Given the description of an element on the screen output the (x, y) to click on. 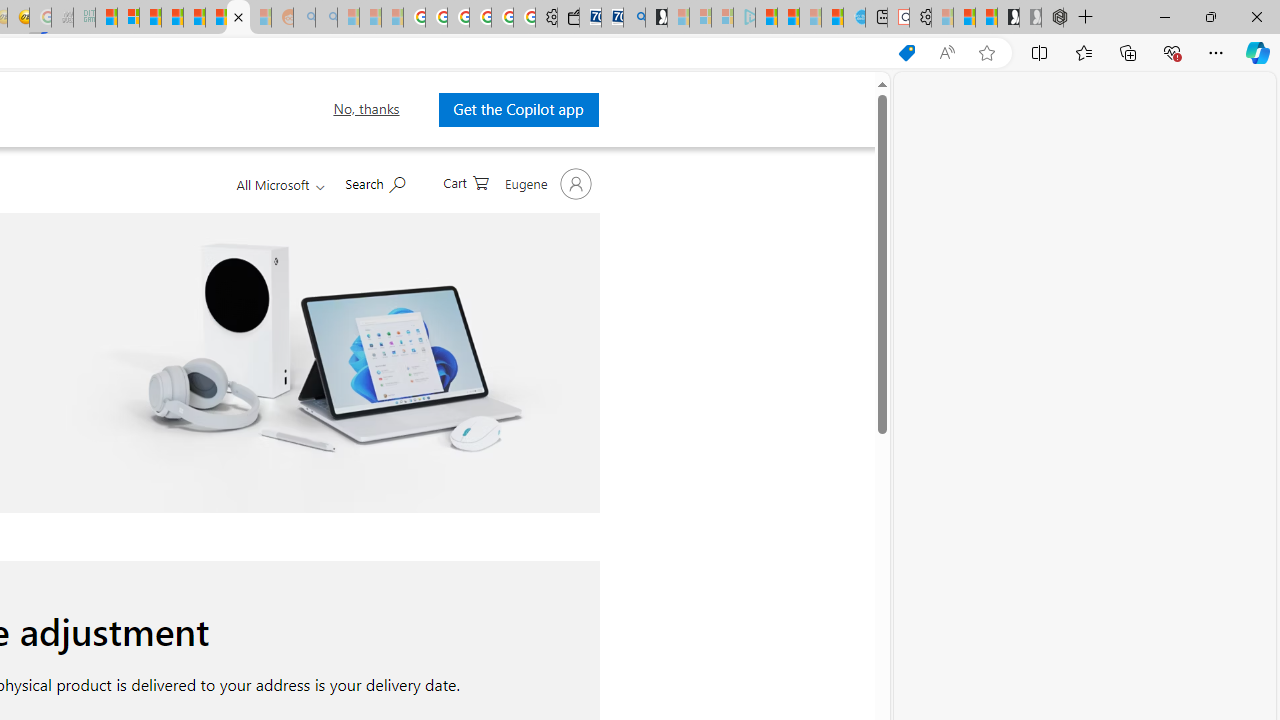
No, thanks (366, 109)
Home | Sky Blue Bikes - Sky Blue Bikes (854, 17)
Kinda Frugal - MSN (216, 17)
Wallet (568, 17)
Get the Copilot app  (518, 109)
DITOGAMES AG Imprint - Sleeping (84, 17)
Student Loan Update: Forgiveness Program Ends This Month (172, 17)
Bing Real Estate - Home sales and rental listings (634, 17)
Shopping in Microsoft Edge (906, 53)
Navy Quest (62, 17)
Search Microsoft.com (374, 182)
